Given the description of an element on the screen output the (x, y) to click on. 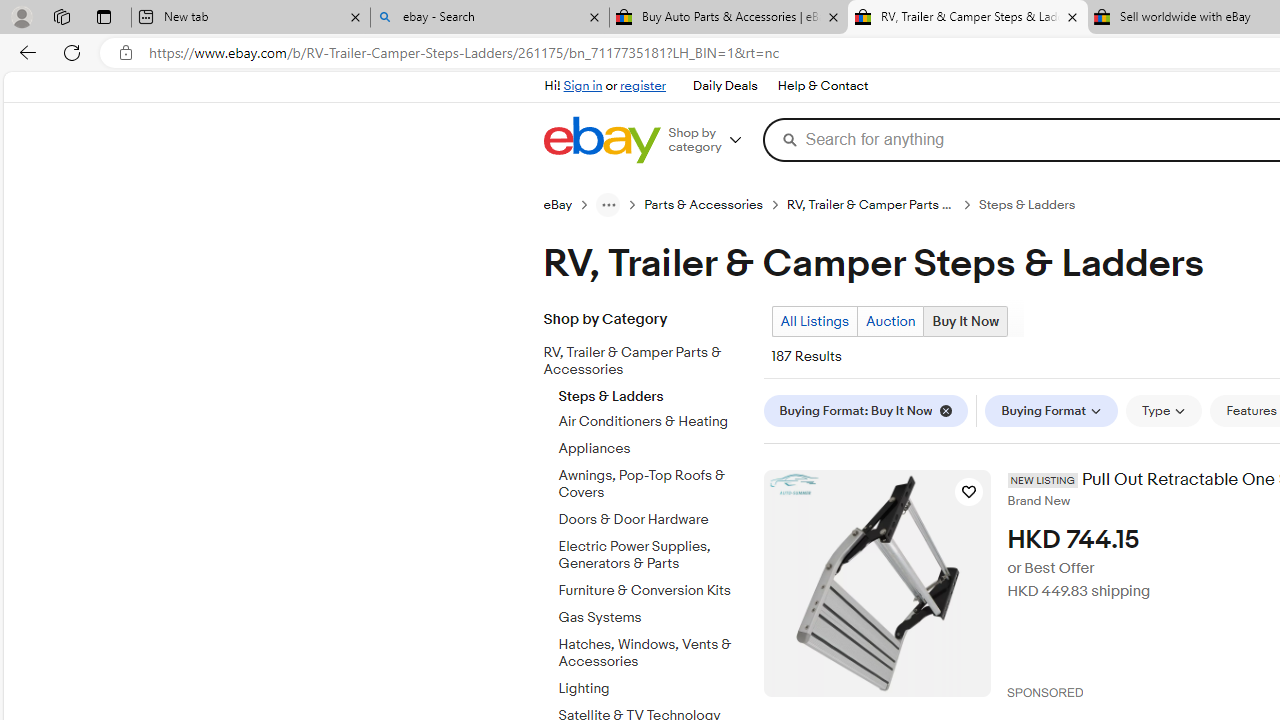
eBay Home (601, 139)
Buying Format (1051, 410)
Gas Systems (653, 618)
Buying Format: Buy It Now - Remove Filter (865, 410)
Help & Contact (822, 86)
Shop by category (711, 140)
Electric Power Supplies, Generators & Parts (653, 555)
register (642, 85)
eBay Home (601, 139)
Type (1164, 410)
Buy It Now Current view (965, 321)
Sign in (582, 85)
RV, Trailer & Camper Steps & Ladders for sale | eBay (967, 17)
